Given the description of an element on the screen output the (x, y) to click on. 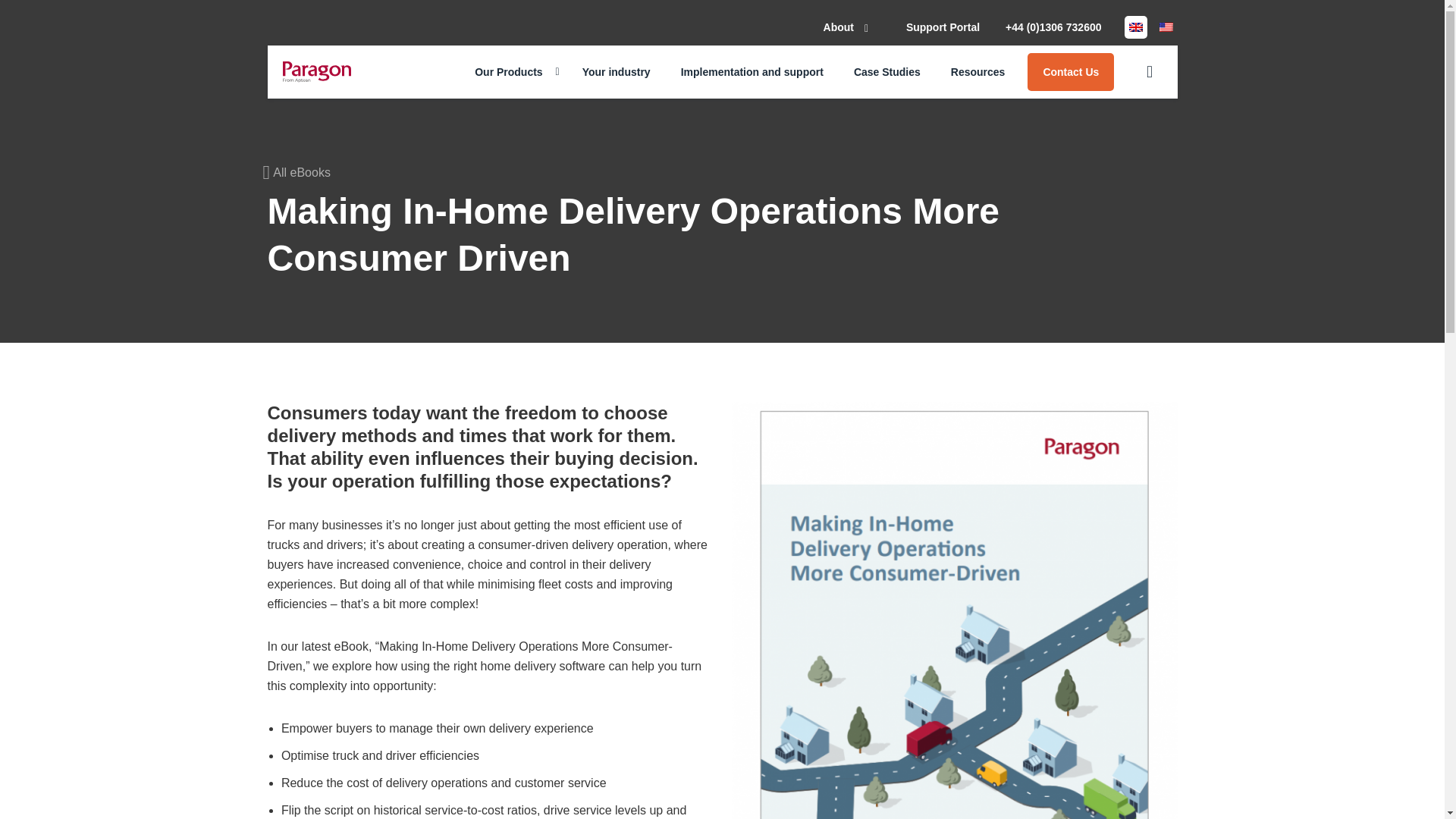
Implementation and support (751, 71)
Our Products (513, 71)
Contact Us (1070, 71)
Resources (978, 71)
Case Studies (887, 71)
Support Portal (942, 26)
Your industry (616, 71)
English - GB (1134, 26)
English - US (1165, 26)
About (852, 27)
